Given the description of an element on the screen output the (x, y) to click on. 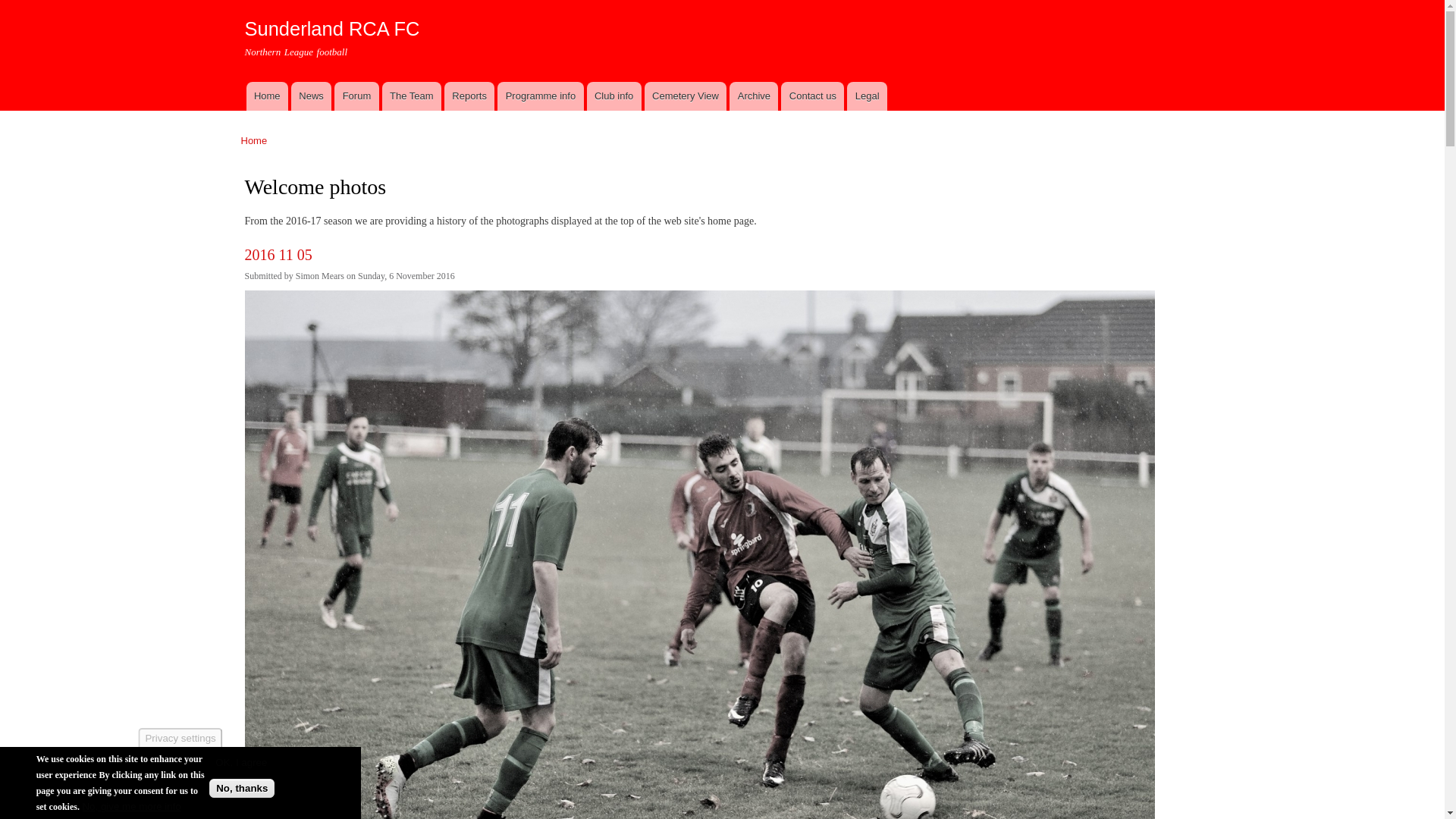
Home page link (266, 95)
Archive (753, 95)
Sunderland RCA FC (331, 28)
OK, I agree (241, 762)
Reports (469, 95)
The Team (411, 95)
Forum (356, 95)
Skip to main content (690, 1)
Home (254, 140)
